Given the description of an element on the screen output the (x, y) to click on. 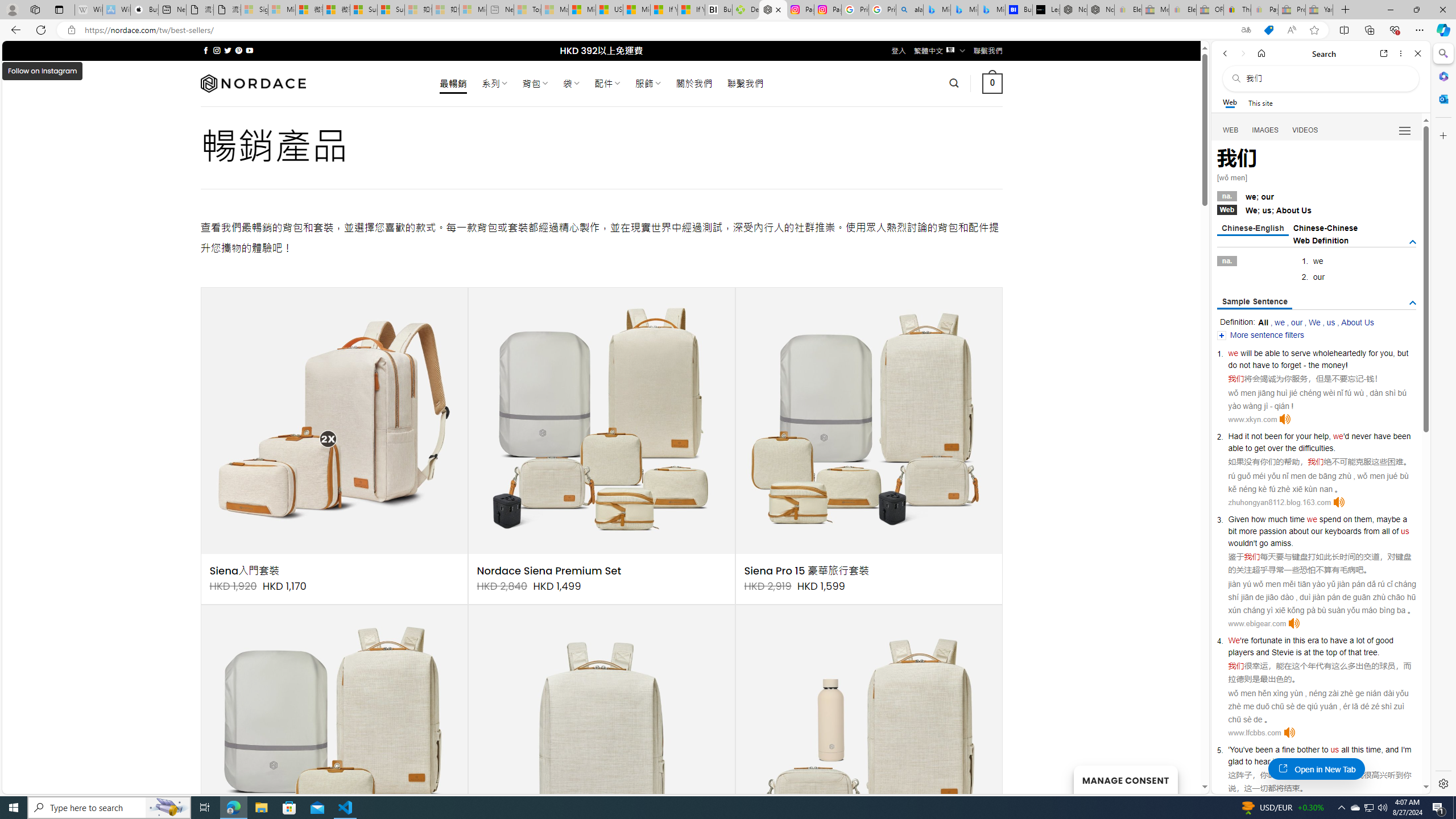
Microsoft Bing Travel - Flights from Hong Kong to Bangkok (936, 9)
maybe (1387, 519)
hear (1262, 760)
WEB (1231, 130)
stop (1322, 760)
Marine life - MSN - Sleeping (554, 9)
, (1381, 749)
